Given the description of an element on the screen output the (x, y) to click on. 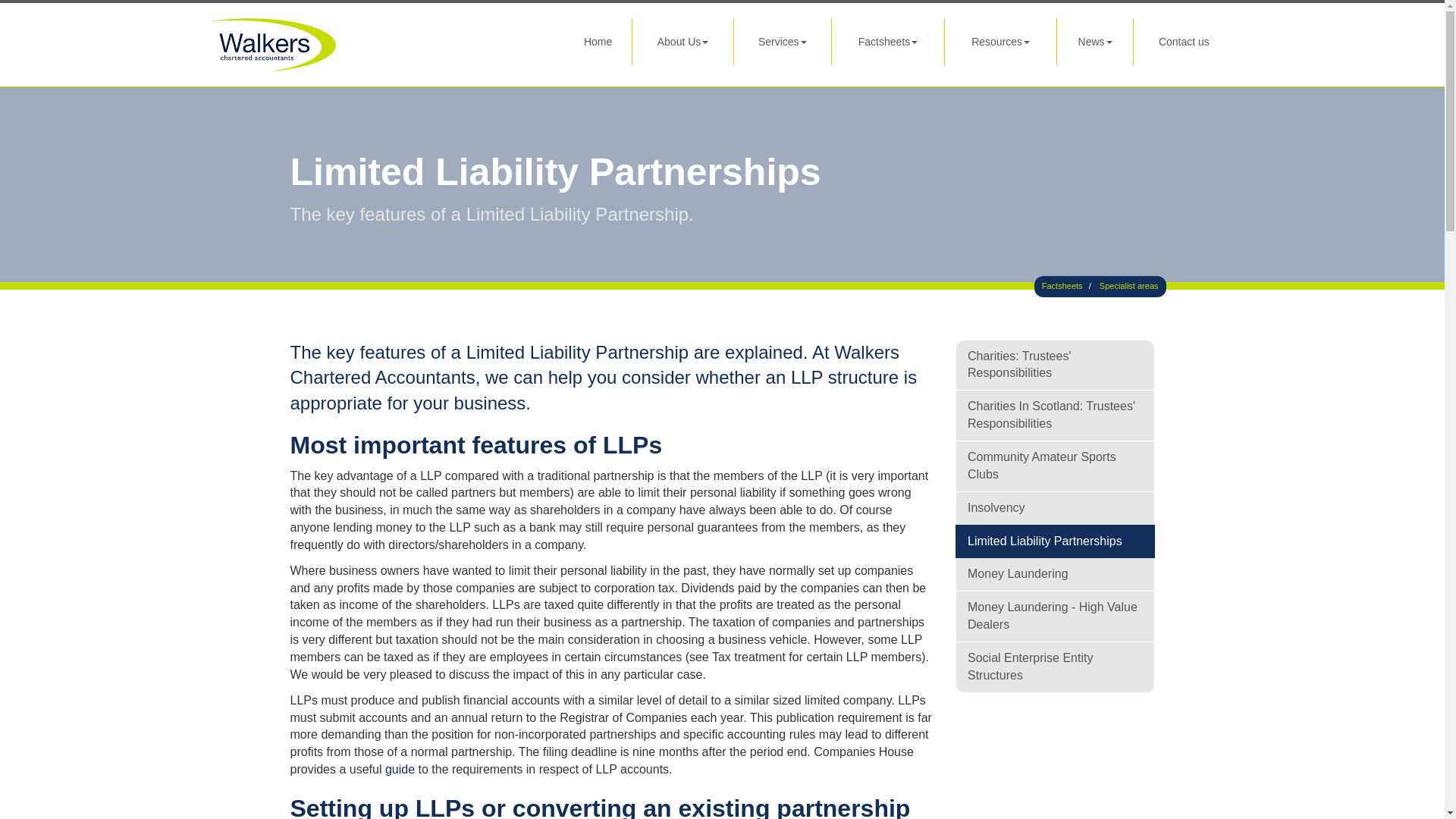
Factsheets (887, 41)
Services (781, 41)
Home (597, 41)
Services (781, 41)
About Us (682, 41)
Walkers Chartered Accountants - Accountants Keighley  (368, 44)
Home (597, 41)
About Us (682, 41)
Factsheets (887, 41)
Resources (1000, 41)
